Given the description of an element on the screen output the (x, y) to click on. 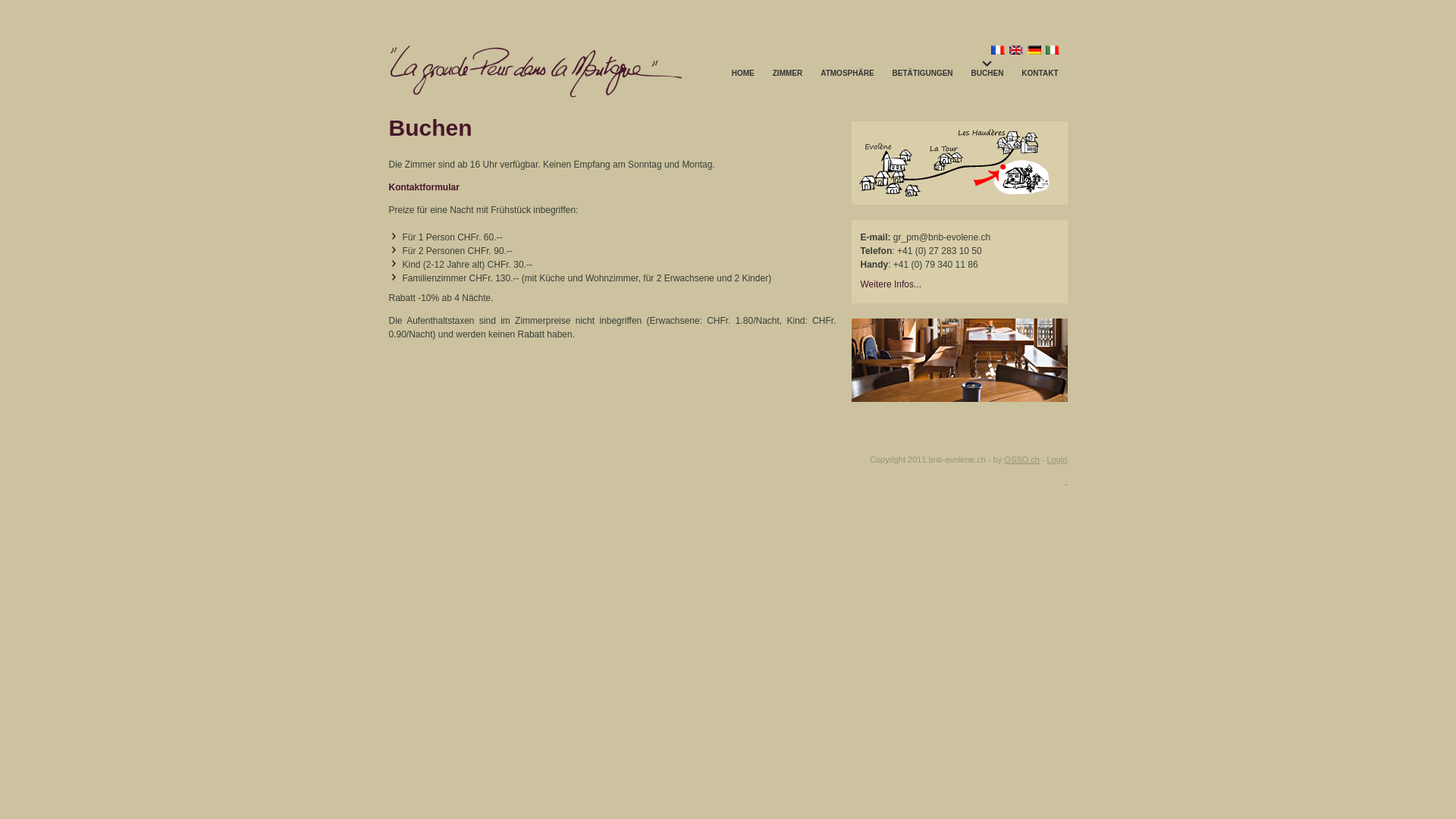
  Element type: text (1065, 480)
English Element type: hover (1015, 49)
Italian Element type: hover (1052, 49)
BUCHEN Element type: text (987, 73)
ZIMMER Element type: text (787, 73)
Deutsch Element type: hover (1033, 49)
  Element type: text (851, 423)
esprit5 Element type: hover (958, 413)
Login Element type: text (1057, 459)
  Element type: text (1052, 193)
KONTAKT Element type: text (1039, 73)
  Element type: text (859, 300)
Weitere Infos... Element type: text (889, 284)
OSSO.ch Element type: text (1021, 459)
Kontaktformular Element type: text (423, 187)
HOME Element type: text (742, 73)
